Given the description of an element on the screen output the (x, y) to click on. 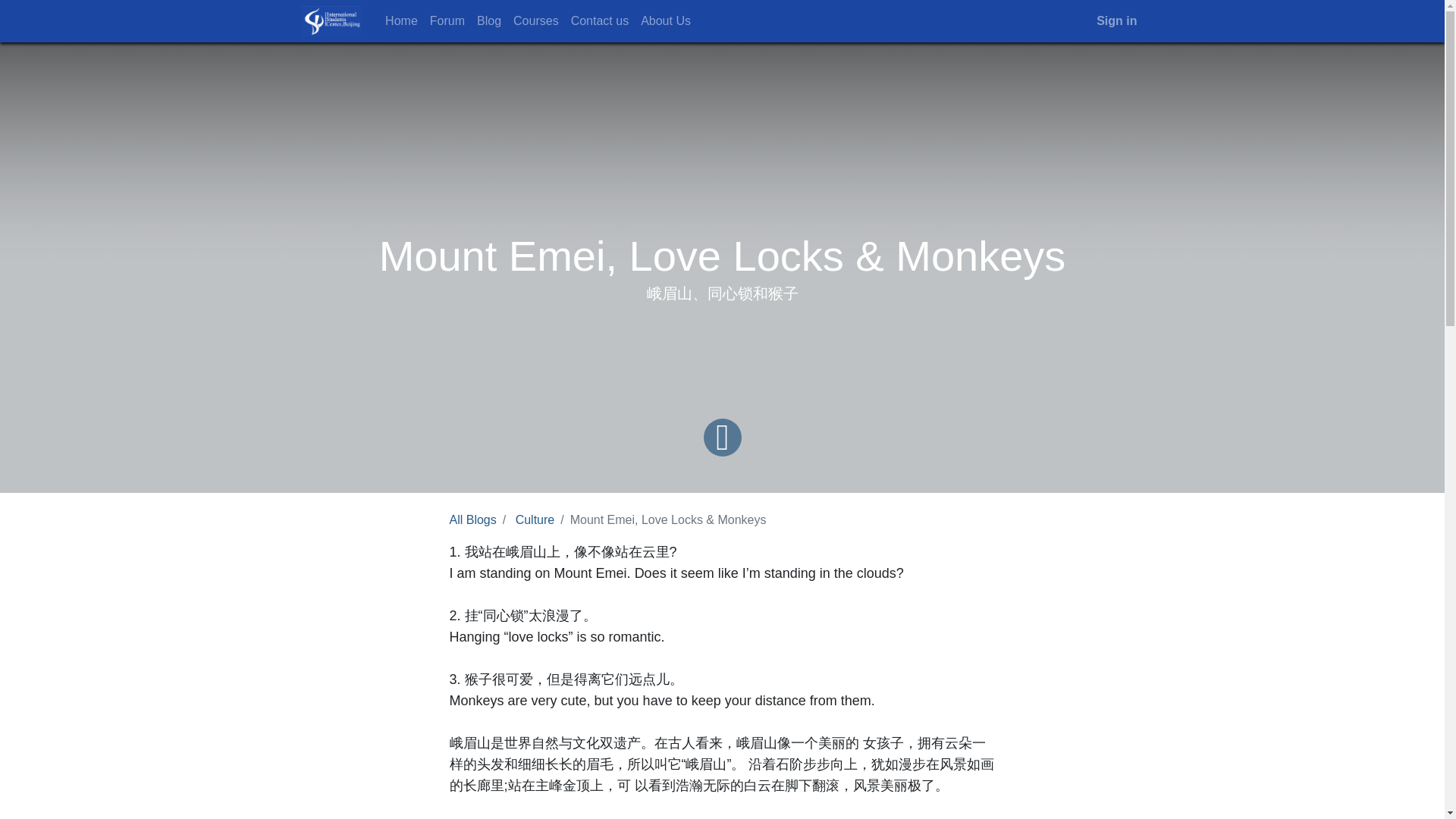
Learn Chinese ISCBJ.COM (331, 20)
Blog (488, 20)
Home (400, 20)
About Us (665, 20)
All Blogs (472, 519)
Forum (446, 20)
Culture (534, 519)
Sign in (1116, 20)
Courses (535, 20)
Contact us (599, 20)
